Given the description of an element on the screen output the (x, y) to click on. 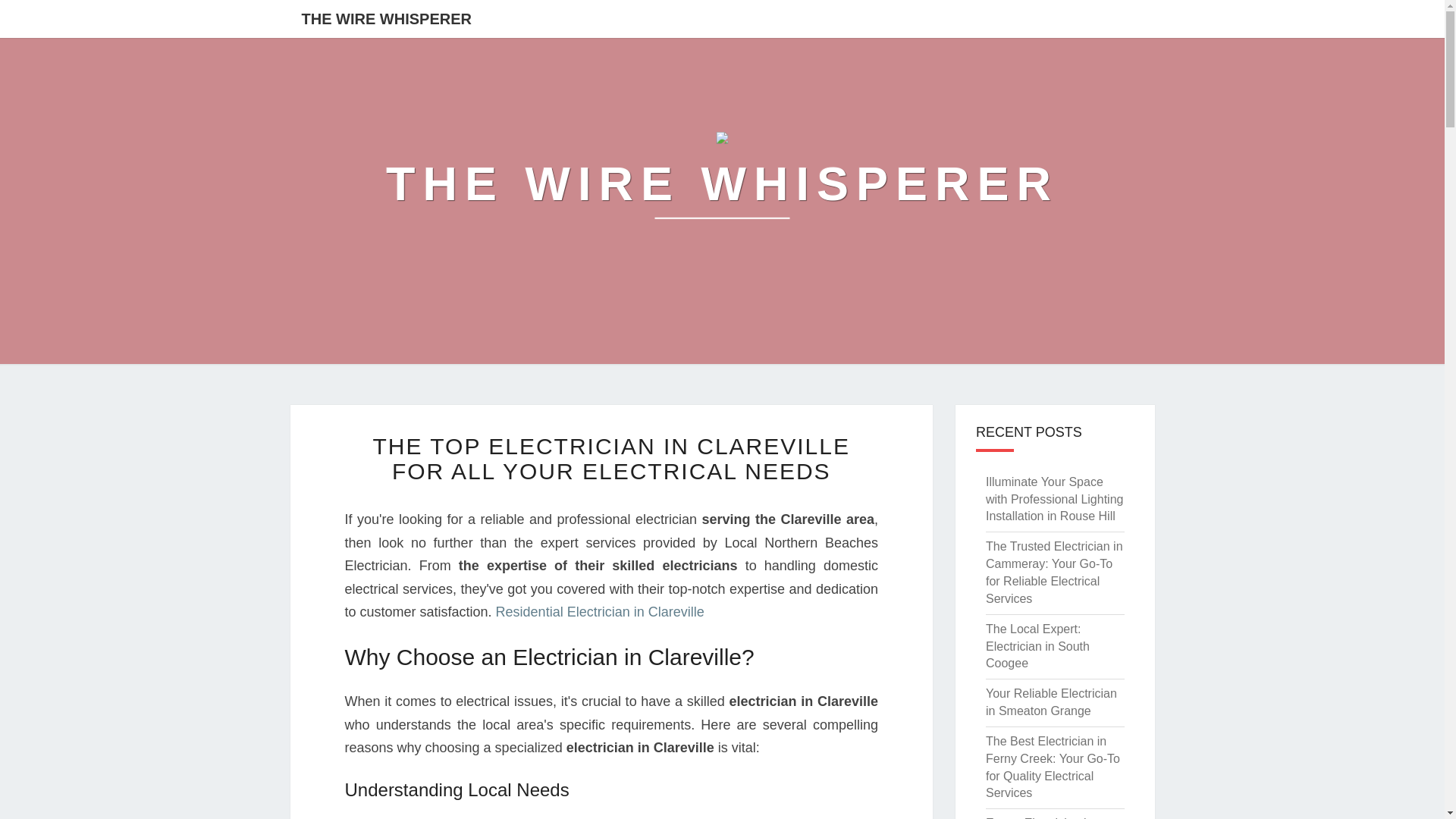
Residential Electrician in Clareville (600, 611)
Expert Electrician in Richmond Lowlands (1039, 817)
Your Reliable Electrician in Smeaton Grange (1050, 702)
THE WIRE WHISPERER (385, 18)
THE WIRE WHISPERER (721, 184)
The Wire Whisperer (721, 184)
The Local Expert: Electrician in South Coogee (1037, 646)
